Given the description of an element on the screen output the (x, y) to click on. 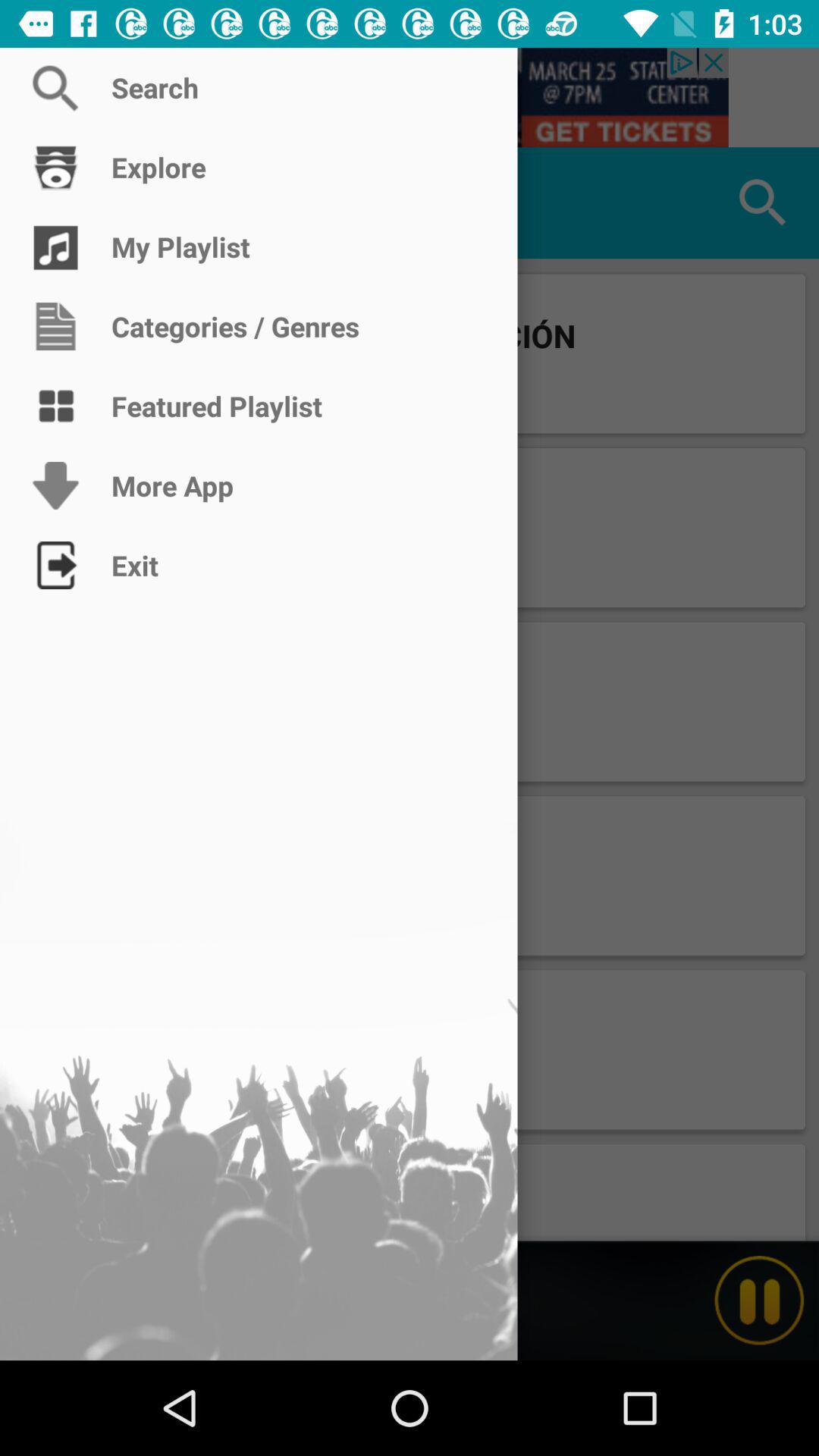
explore app (55, 202)
